Given the description of an element on the screen output the (x, y) to click on. 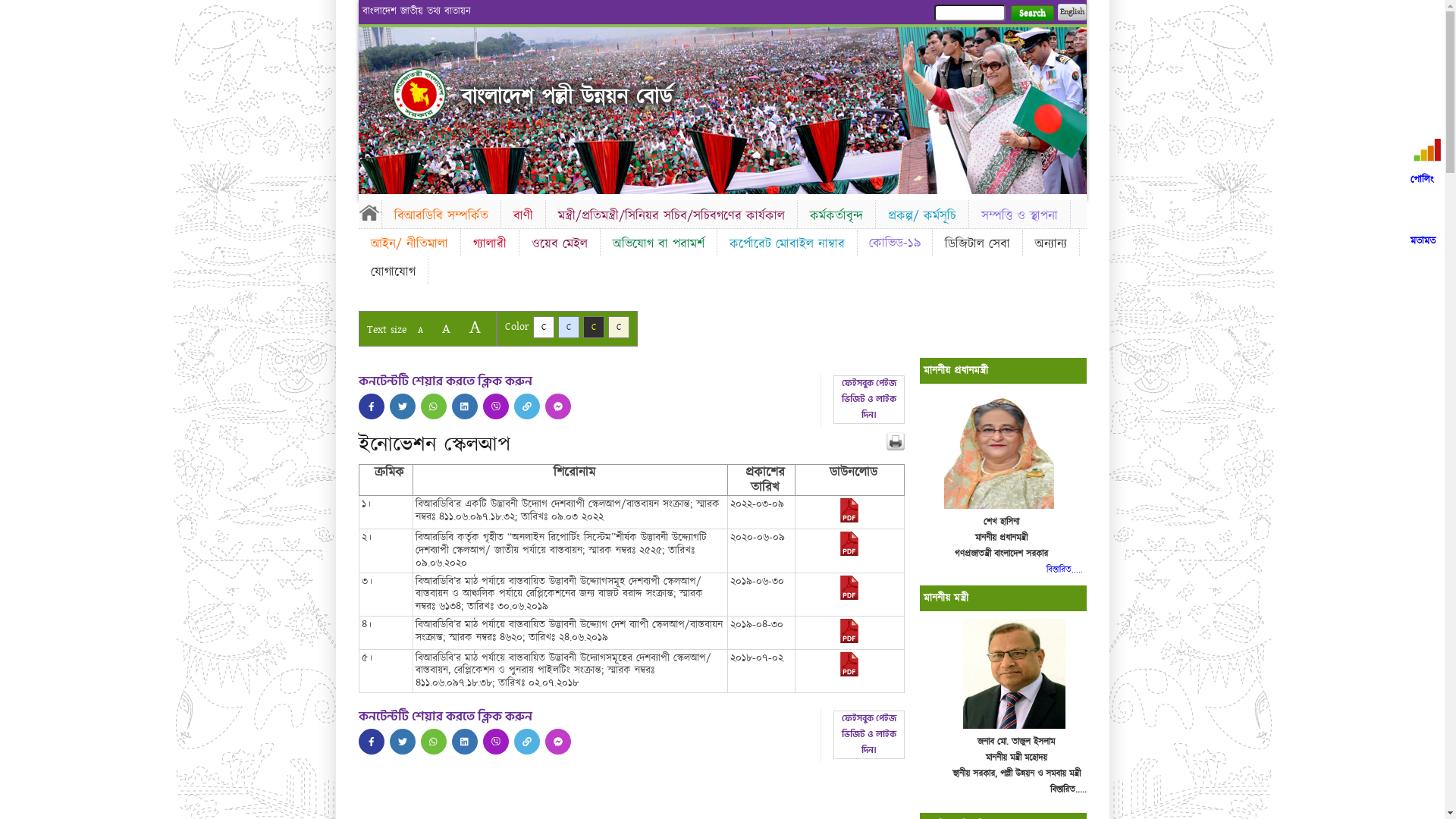
C Element type: text (592, 327)
2022-03-09-11-42-76772893a7a42dd4e2e33b232db086bf.pdf Element type: hover (849, 519)
C Element type: text (618, 327)
English Element type: text (1071, 11)
Home Element type: hover (368, 211)
A Element type: text (419, 330)
Search Element type: text (1031, 13)
Home Element type: hover (418, 93)
A Element type: text (445, 328)
C Element type: text (568, 327)
2020-09-29-20-17-98fd8f81ade814c23e599bff83bde544.pdf Element type: hover (849, 552)
4620.pdf Element type: hover (849, 639)
A Element type: text (474, 327)
C Element type: text (542, 327)
2020-09-29-20-22-70bb27fdba8ba6a4f6d7bf6ffdbe5304.pdf Element type: hover (849, 672)
